Given the description of an element on the screen output the (x, y) to click on. 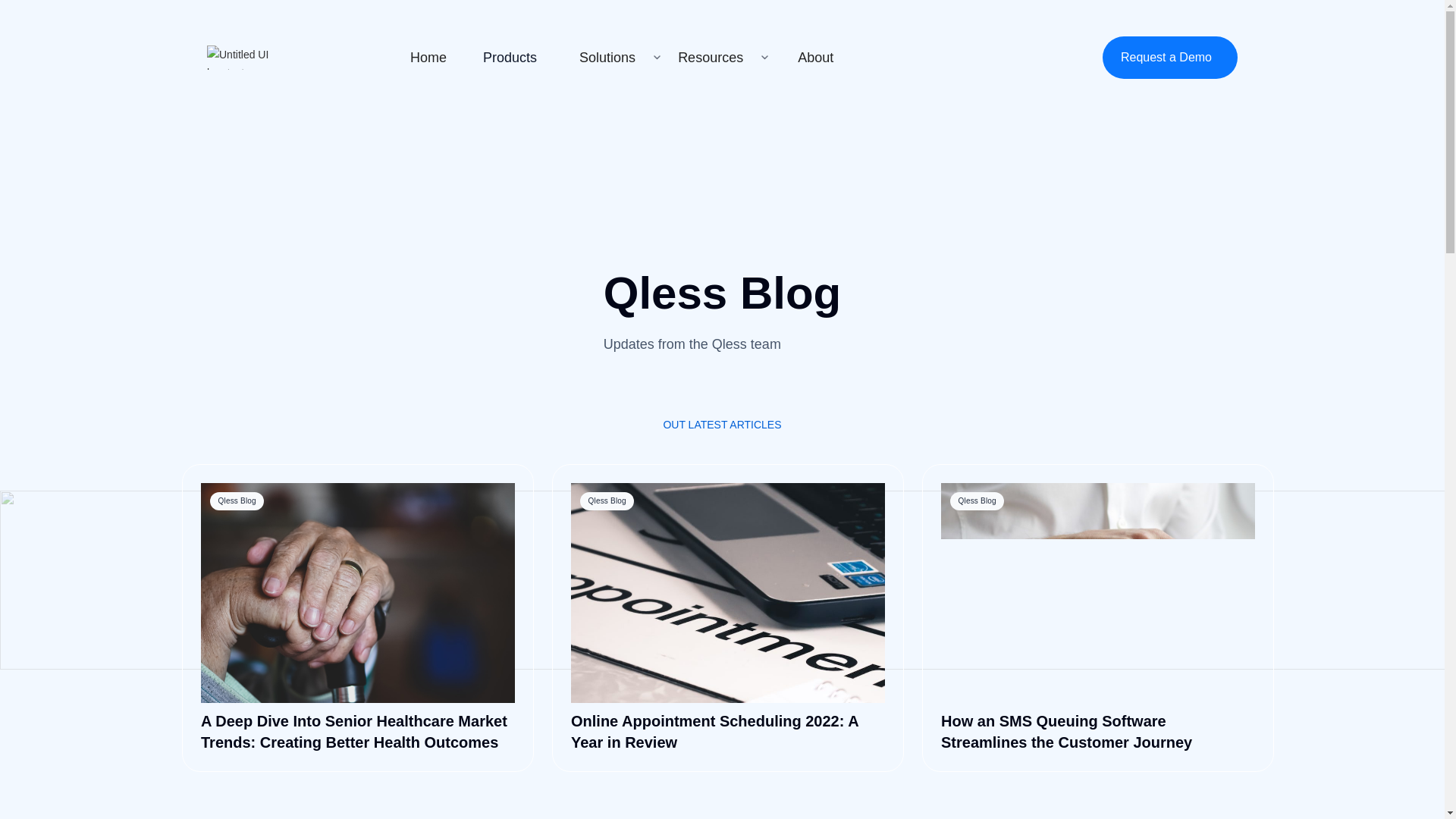
Qless Blog (727, 592)
About (815, 57)
Request a Demo (1169, 57)
Qless Blog (1097, 592)
Home (427, 57)
Qless Blog (357, 592)
Products (510, 57)
